Given the description of an element on the screen output the (x, y) to click on. 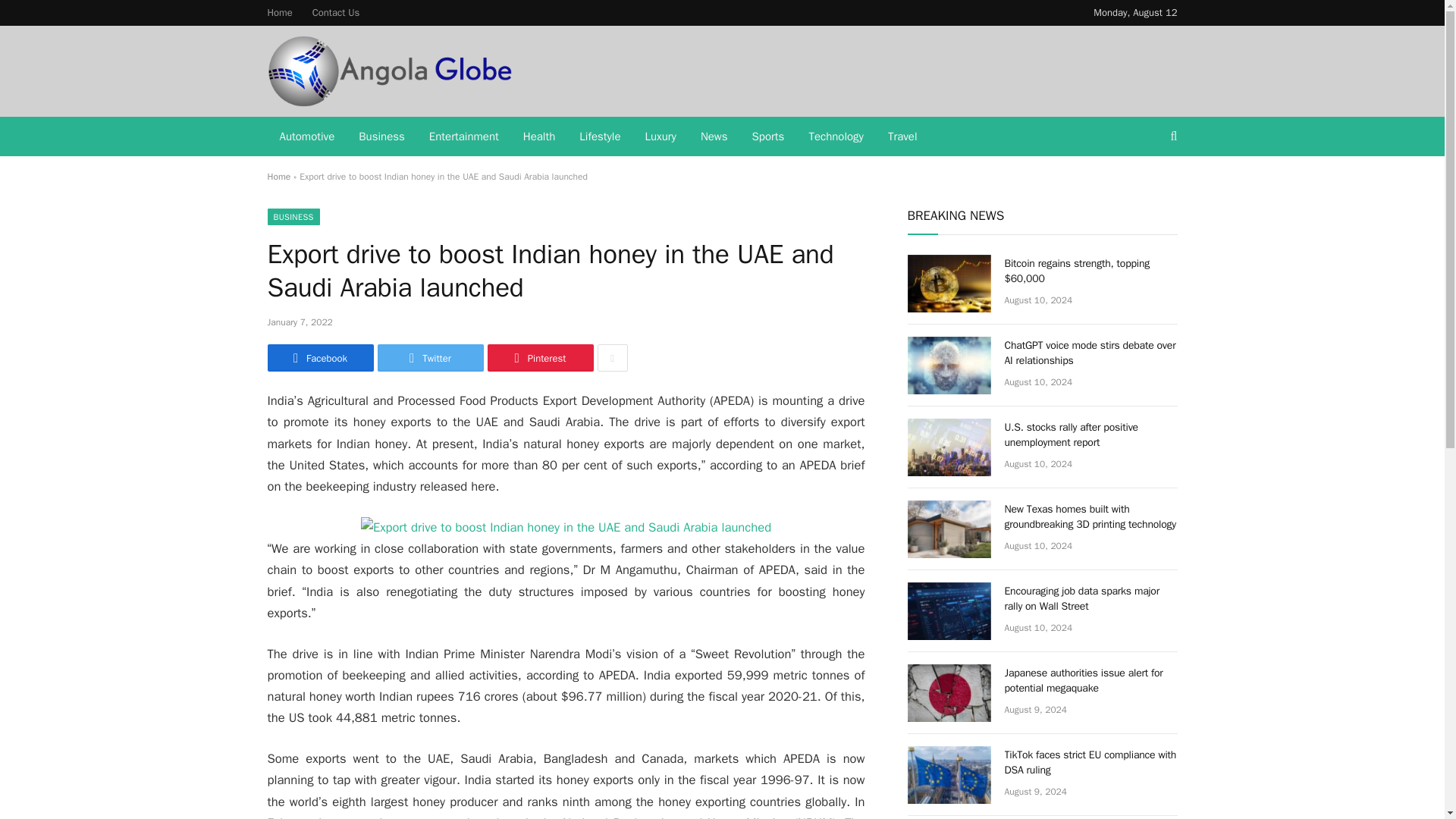
Pinterest (539, 357)
Home (277, 176)
Business (381, 136)
Facebook (319, 357)
News (713, 136)
Technology (836, 136)
Entertainment (463, 136)
Luxury (660, 136)
Angola Globe (389, 71)
Sports (767, 136)
